Given the description of an element on the screen output the (x, y) to click on. 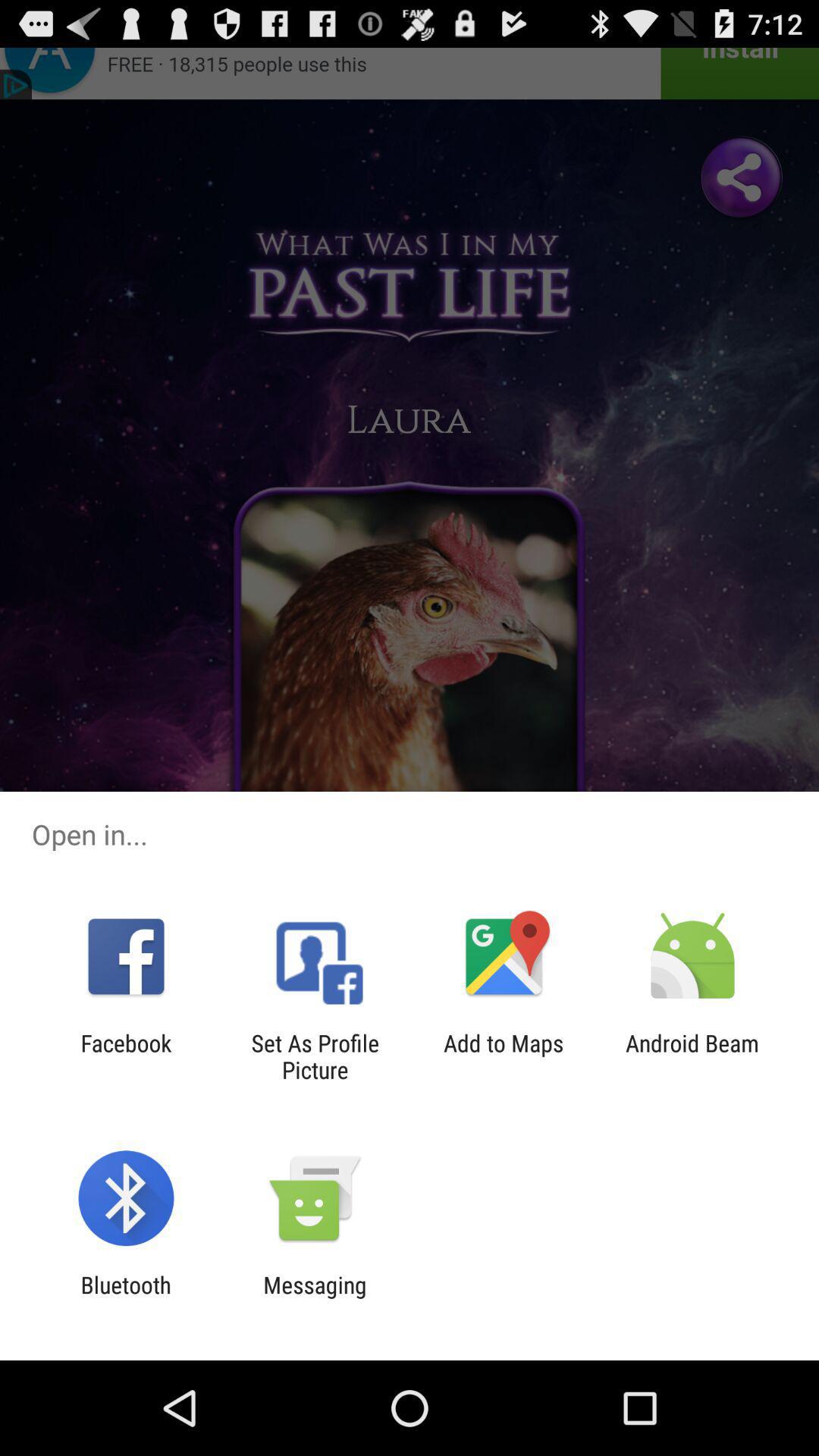
turn off the app to the left of android beam icon (503, 1056)
